Given the description of an element on the screen output the (x, y) to click on. 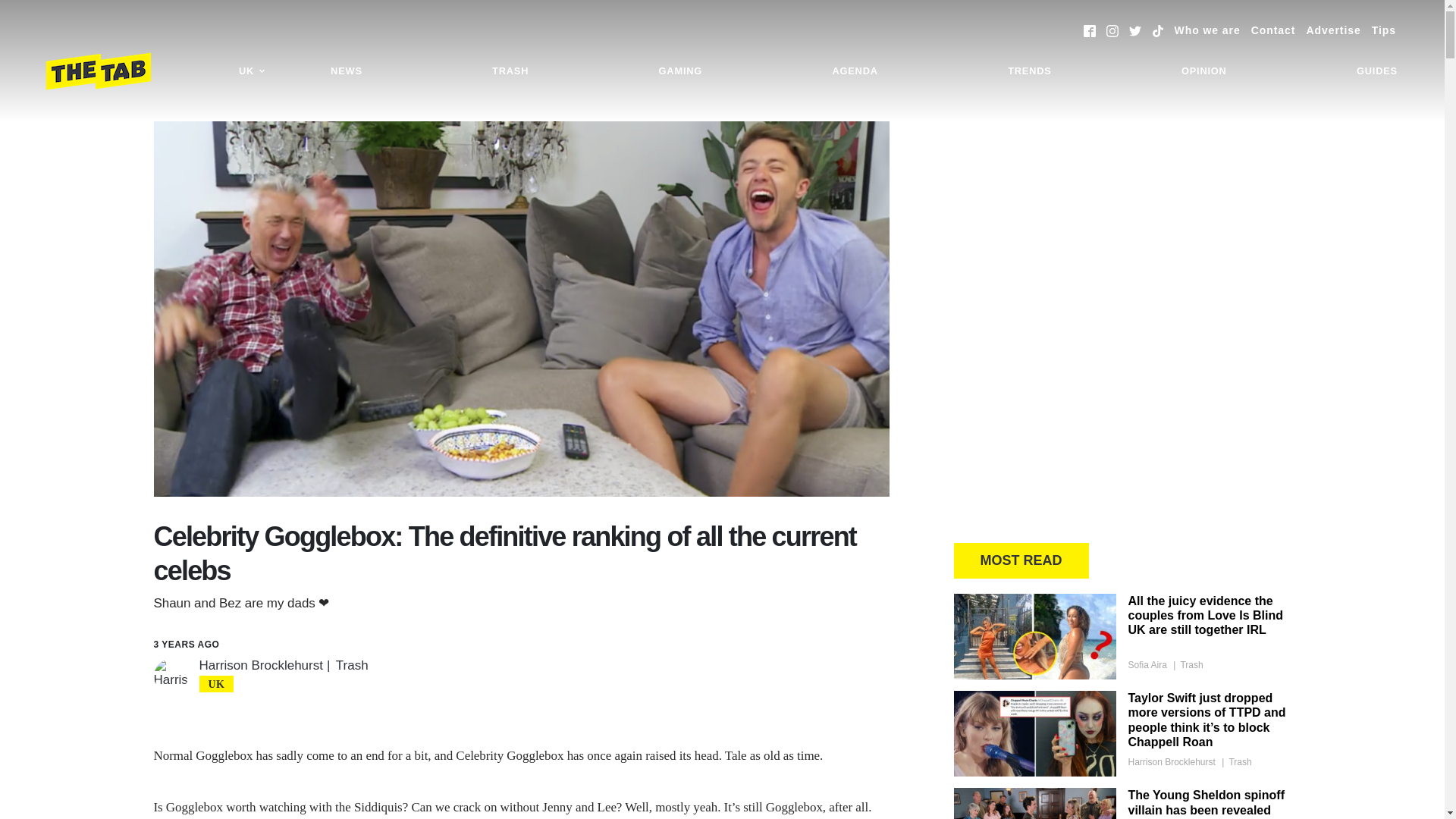
GUIDES (1377, 71)
TRENDS (1028, 71)
UK (252, 71)
OPINION (1204, 71)
NEWS (346, 71)
GAMING (680, 71)
Tips (1383, 29)
Contact (1272, 29)
Advertise (1332, 29)
AGENDA (854, 71)
